Given the description of an element on the screen output the (x, y) to click on. 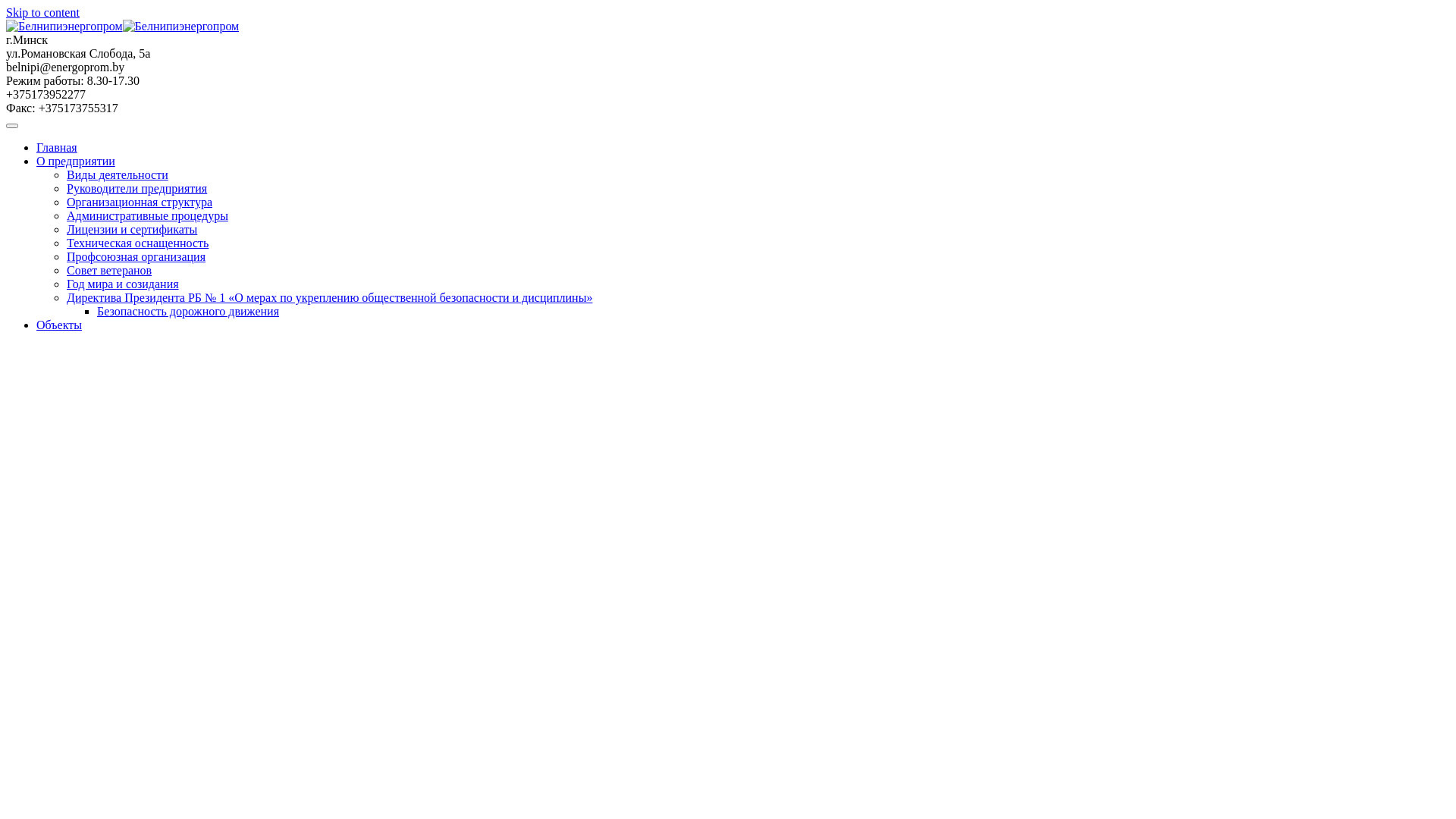
Skip to content Element type: text (42, 12)
